Given the description of an element on the screen output the (x, y) to click on. 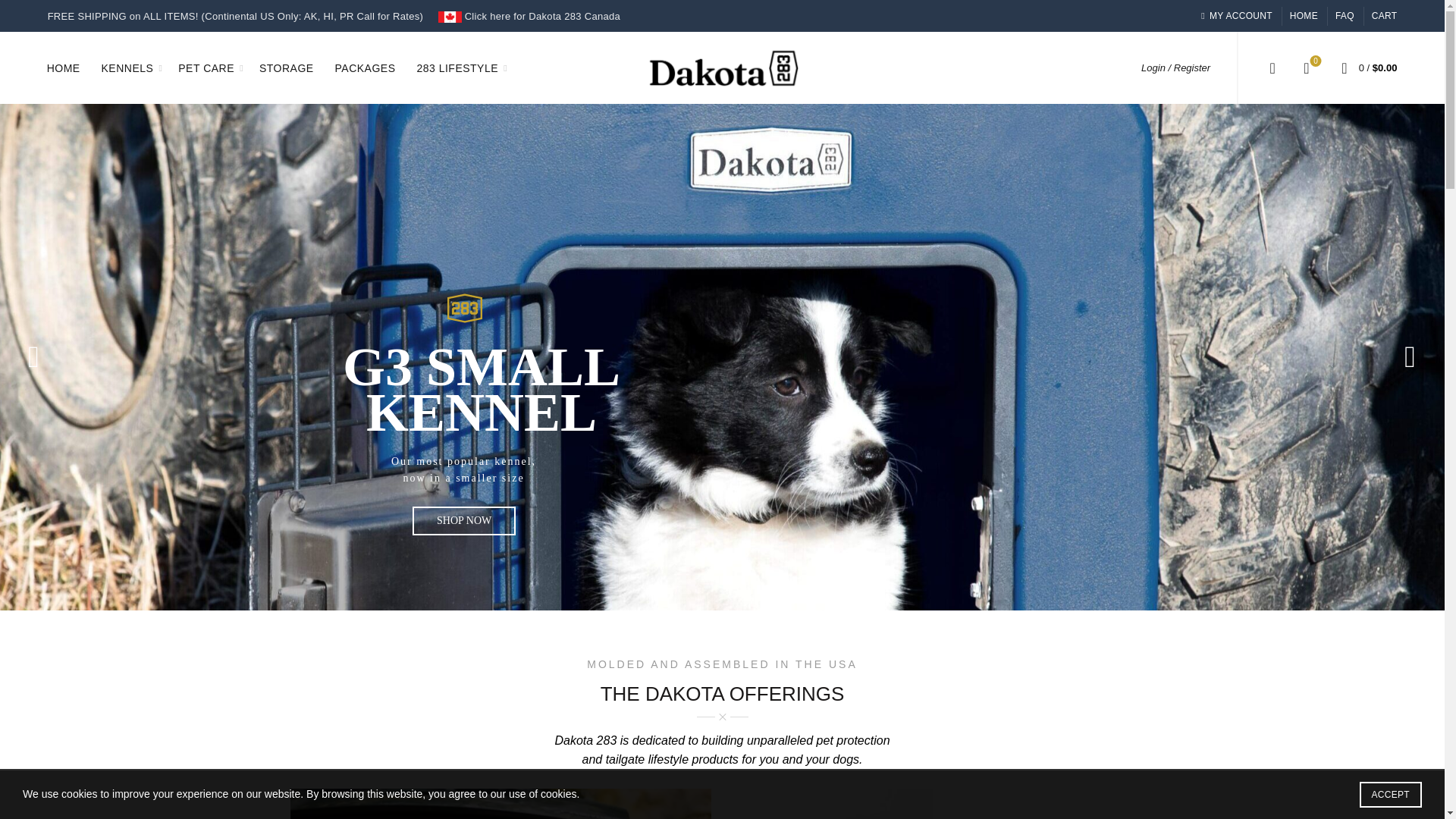
HOME (1303, 15)
Click here for Dakota 283 Canada (529, 16)
FAQ (1344, 15)
CART (1384, 15)
KENNELS (127, 67)
HOME (63, 67)
MY ACCOUNT (1235, 15)
